Given the description of an element on the screen output the (x, y) to click on. 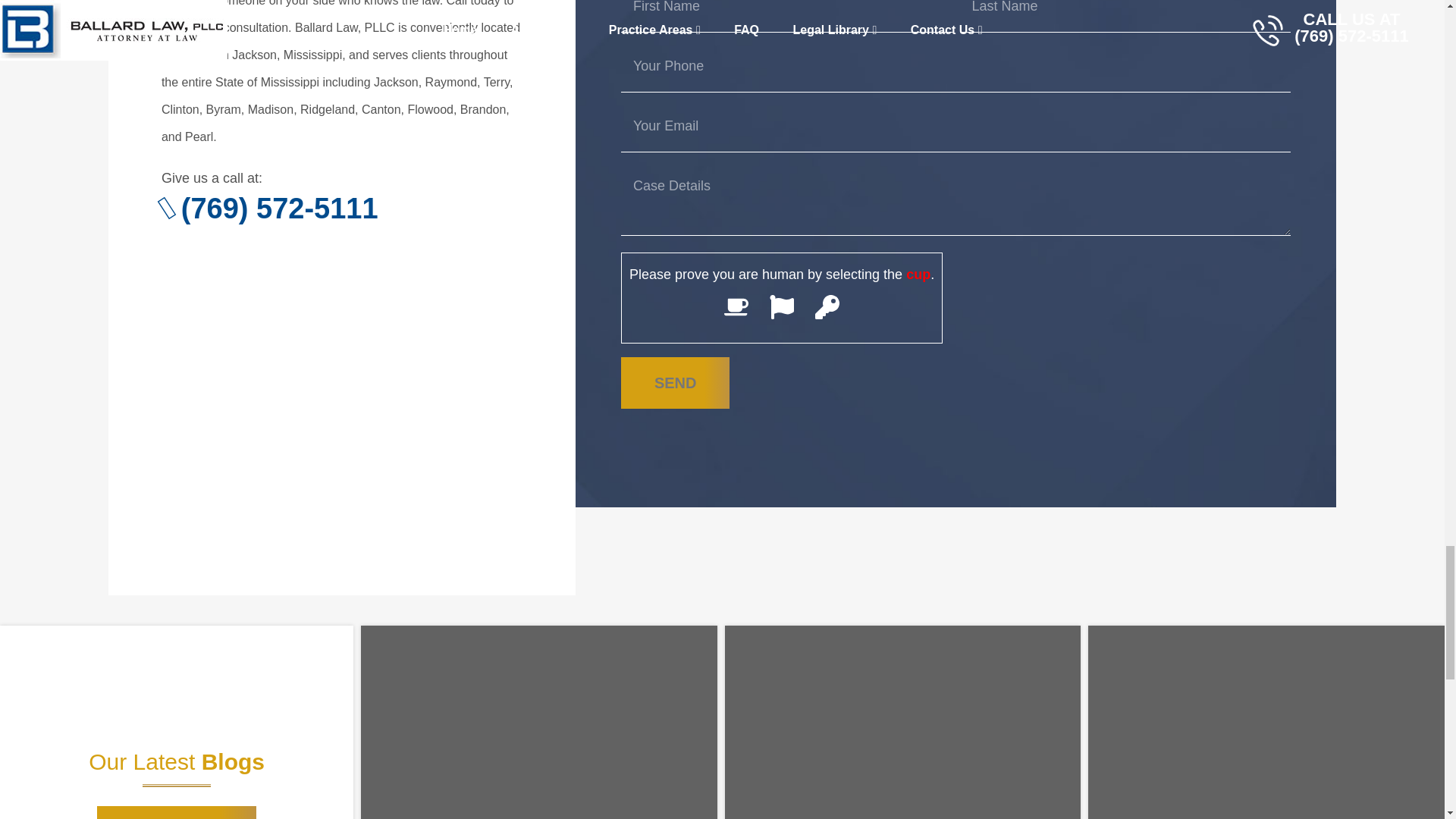
Send (675, 382)
